Given the description of an element on the screen output the (x, y) to click on. 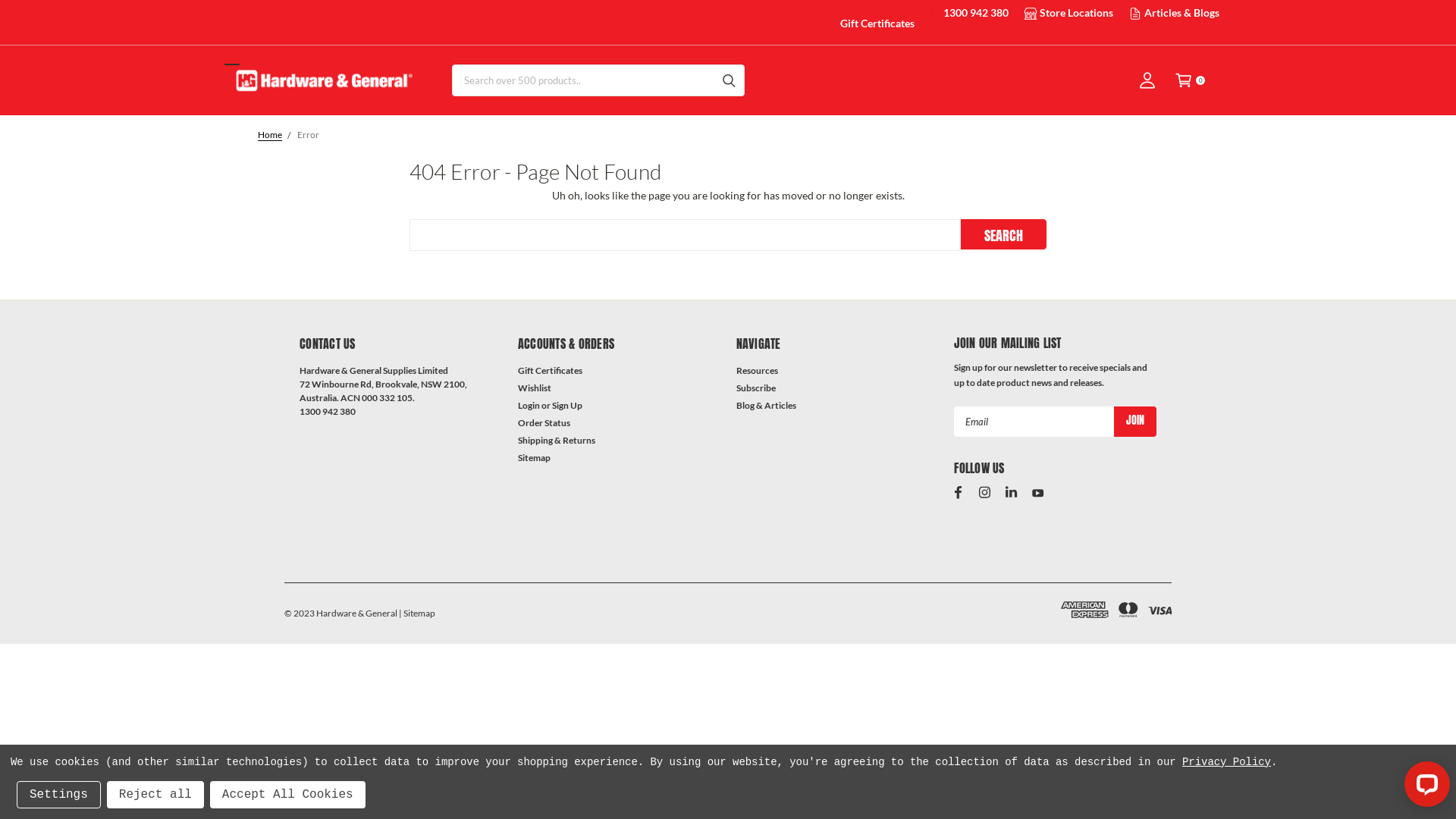
Home Element type: text (269, 134)
Shipping & Returns Element type: text (556, 440)
Blog & Articles Element type: text (765, 405)
Search Element type: text (1003, 234)
Wishlist Element type: text (534, 388)
Accept All Cookies Element type: text (287, 794)
Settings Element type: text (58, 794)
Store Locations Element type: text (1076, 12)
Reject all Element type: text (154, 794)
Privacy Policy Element type: text (1226, 762)
Sign Up Element type: text (567, 405)
Login Element type: text (528, 405)
Hardware & General Element type: hover (321, 79)
Articles & Blogs Element type: text (1181, 12)
Subscribe Element type: text (755, 388)
0 Element type: text (1183, 79)
| Sitemap Element type: text (416, 612)
Error Element type: text (308, 134)
Order Status Element type: text (543, 422)
Gift Certificates Element type: text (877, 22)
Join Element type: text (1134, 421)
1300 942 380 Element type: text (975, 12)
Resources Element type: text (756, 370)
Sitemap Element type: text (533, 457)
Gift Certificates Element type: text (549, 370)
